Given the description of an element on the screen output the (x, y) to click on. 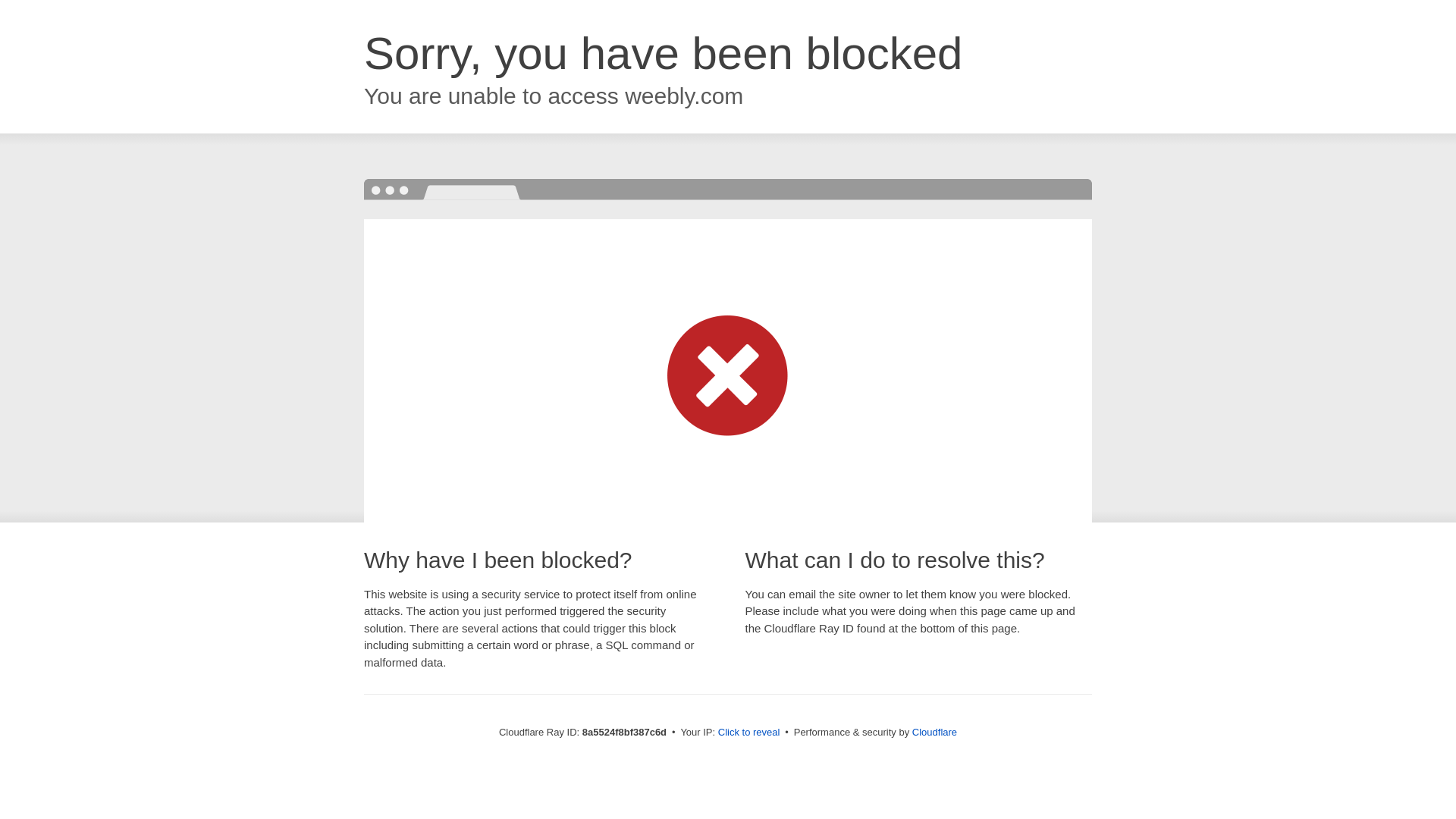
Cloudflare (934, 731)
Click to reveal (748, 732)
